Given the description of an element on the screen output the (x, y) to click on. 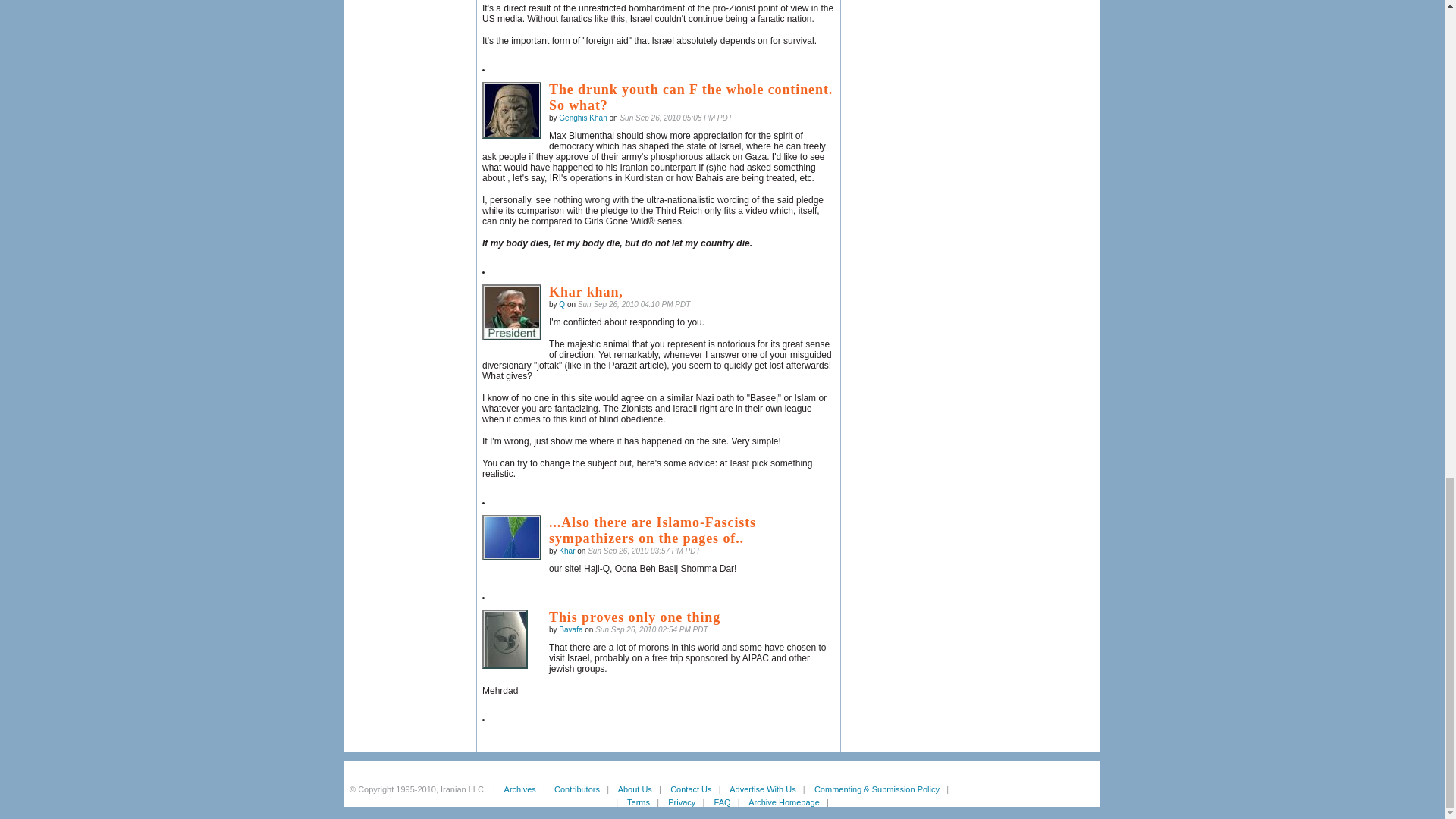
View user profile. (583, 117)
Khar (511, 537)
Q (511, 312)
Genghis Khan (511, 109)
View user profile. (570, 629)
View user profile. (567, 551)
